Given the description of an element on the screen output the (x, y) to click on. 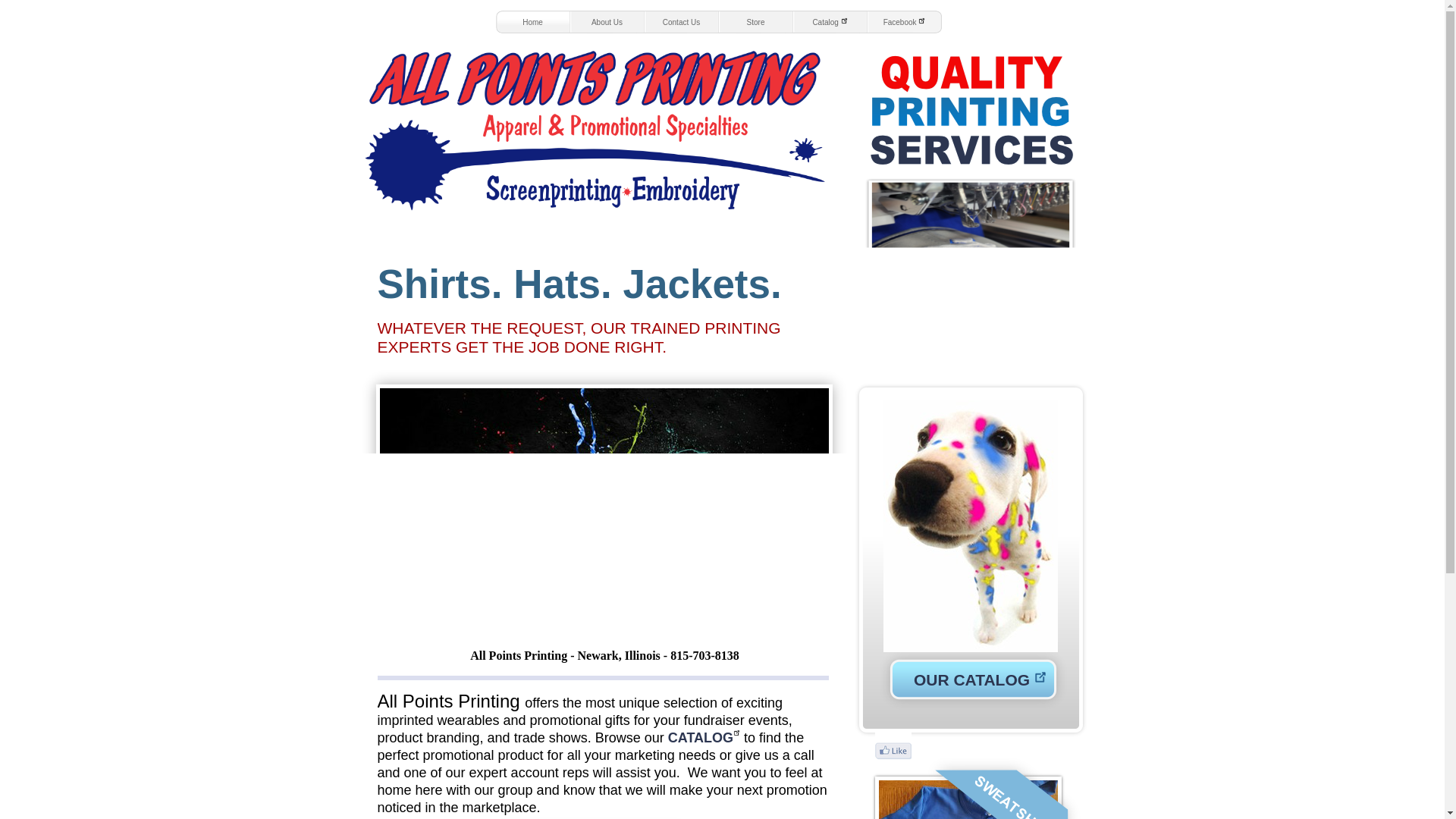
Opens in a new tab. (706, 737)
About Us (607, 21)
Contact Us (682, 21)
Store (756, 21)
Home (533, 21)
Opens in a new tab. (904, 21)
CATALOG (706, 737)
Opens in a new tab. (830, 21)
OUR CATALOG (971, 679)
